Given the description of an element on the screen output the (x, y) to click on. 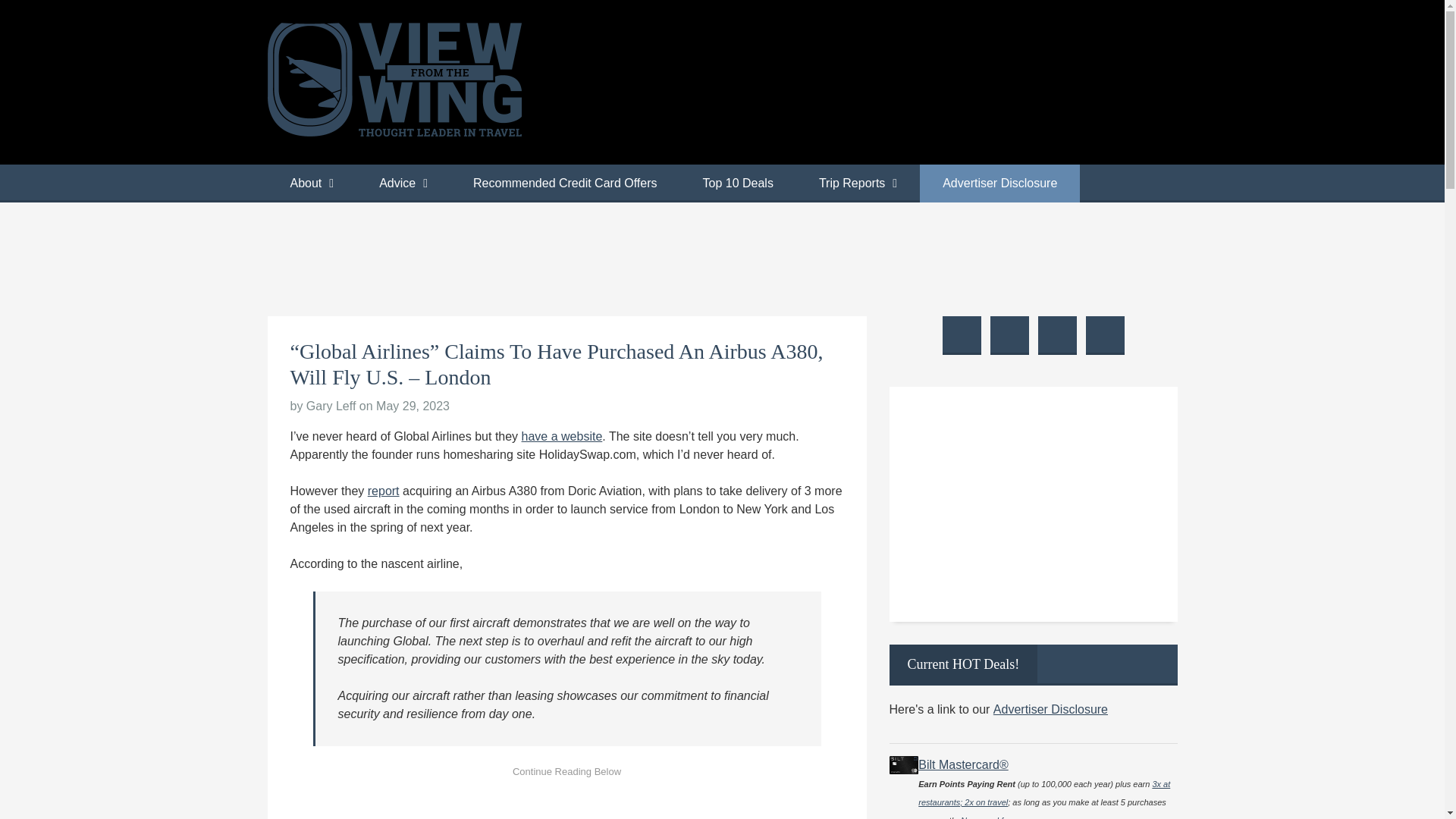
Gary Leff (330, 405)
About (311, 183)
Top 10 Deals (736, 183)
have a website (561, 436)
Advice (402, 183)
Advertiser Disclosure (1000, 183)
Trip Reports (858, 183)
Recommended Credit Card Offers (564, 183)
report (383, 490)
